Given the description of an element on the screen output the (x, y) to click on. 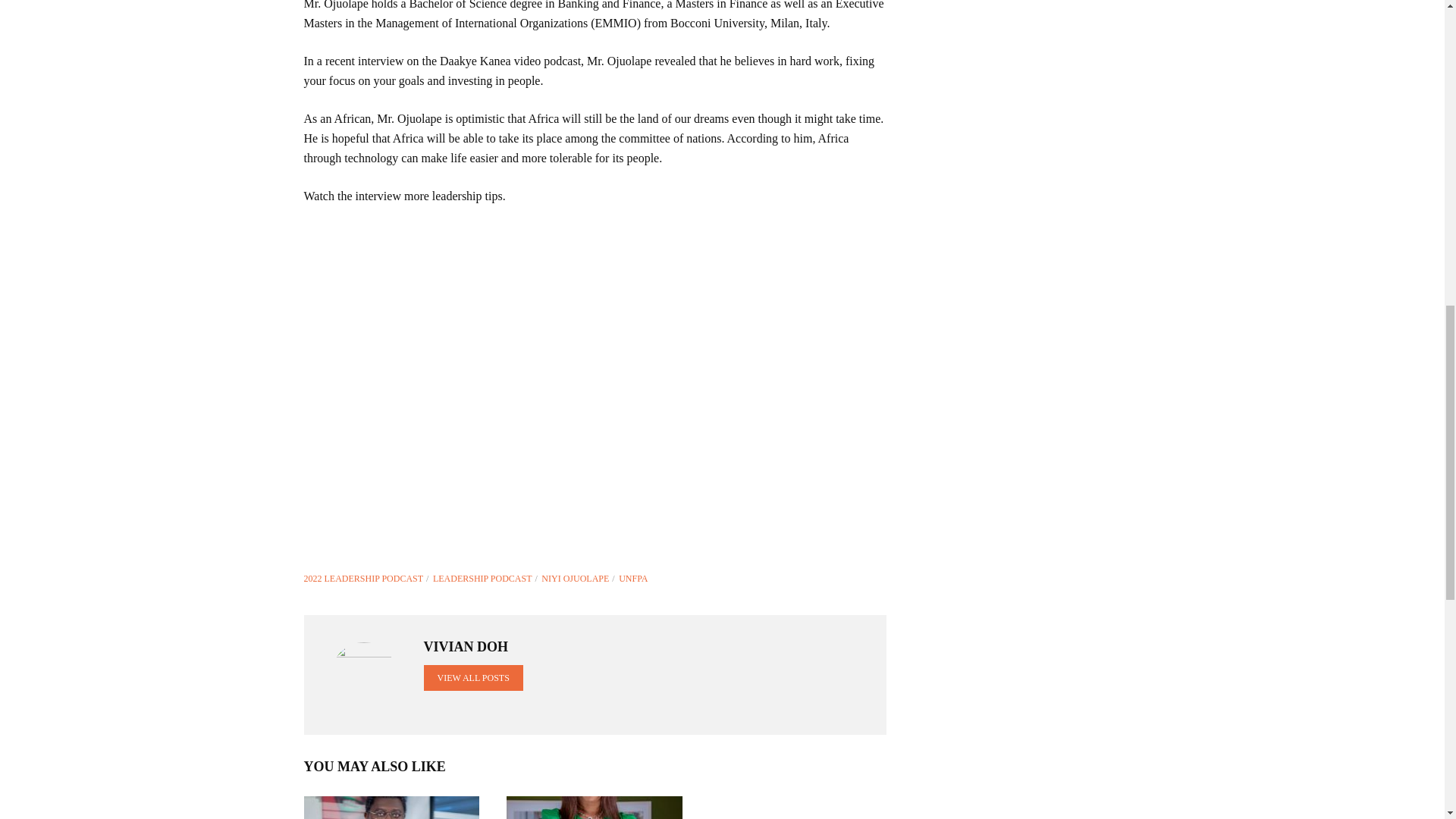
PROFILE OF CATHERINE ENGMANN (594, 807)
Profile of Mr. Ebo Richardson (390, 807)
